Given the description of an element on the screen output the (x, y) to click on. 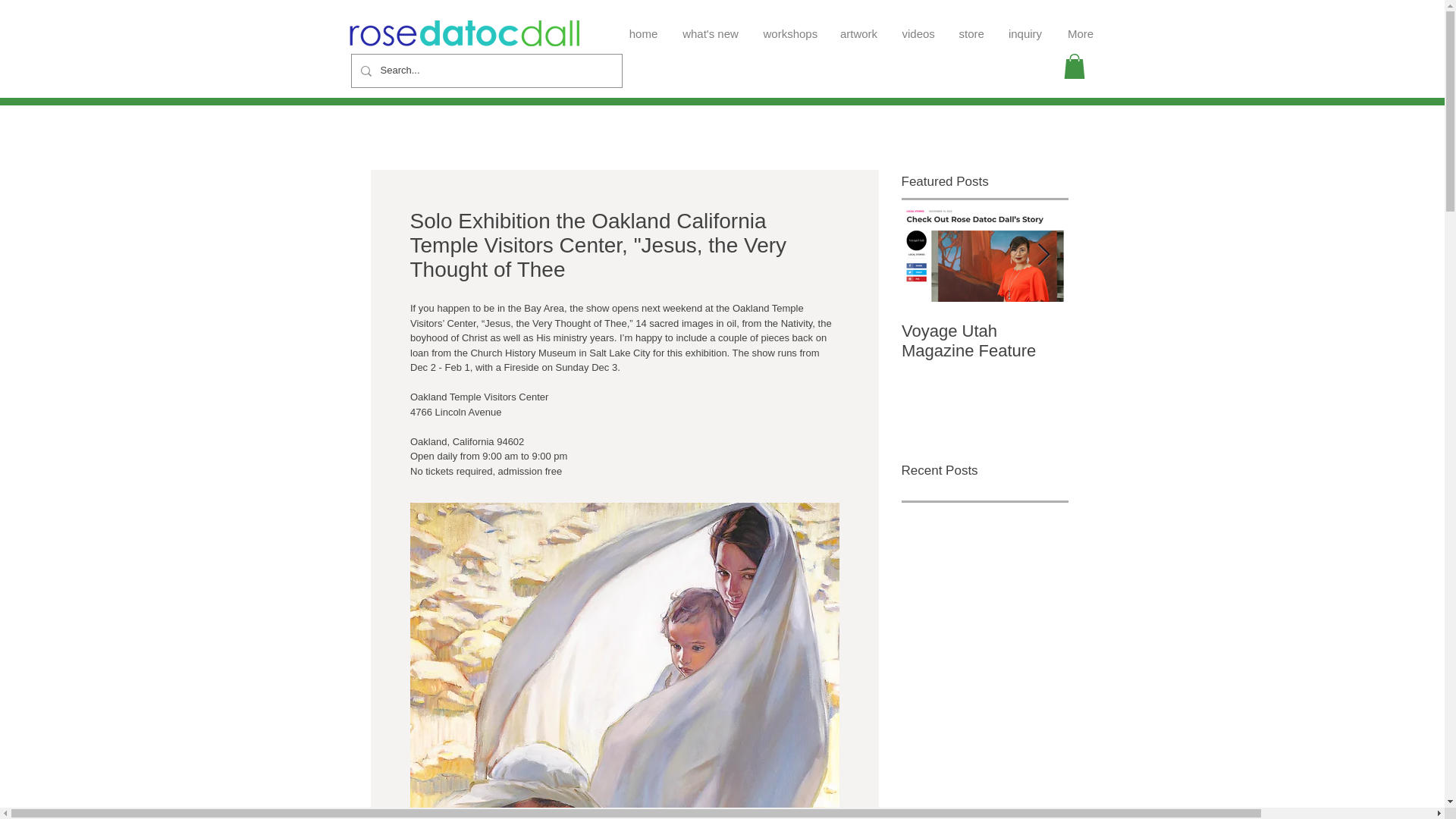
store (970, 26)
videos (918, 26)
home (643, 26)
what's new (710, 26)
workshops (789, 26)
inquiry (1024, 26)
Voyage Utah Magazine Feature (984, 341)
artwork (858, 26)
